Given the description of an element on the screen output the (x, y) to click on. 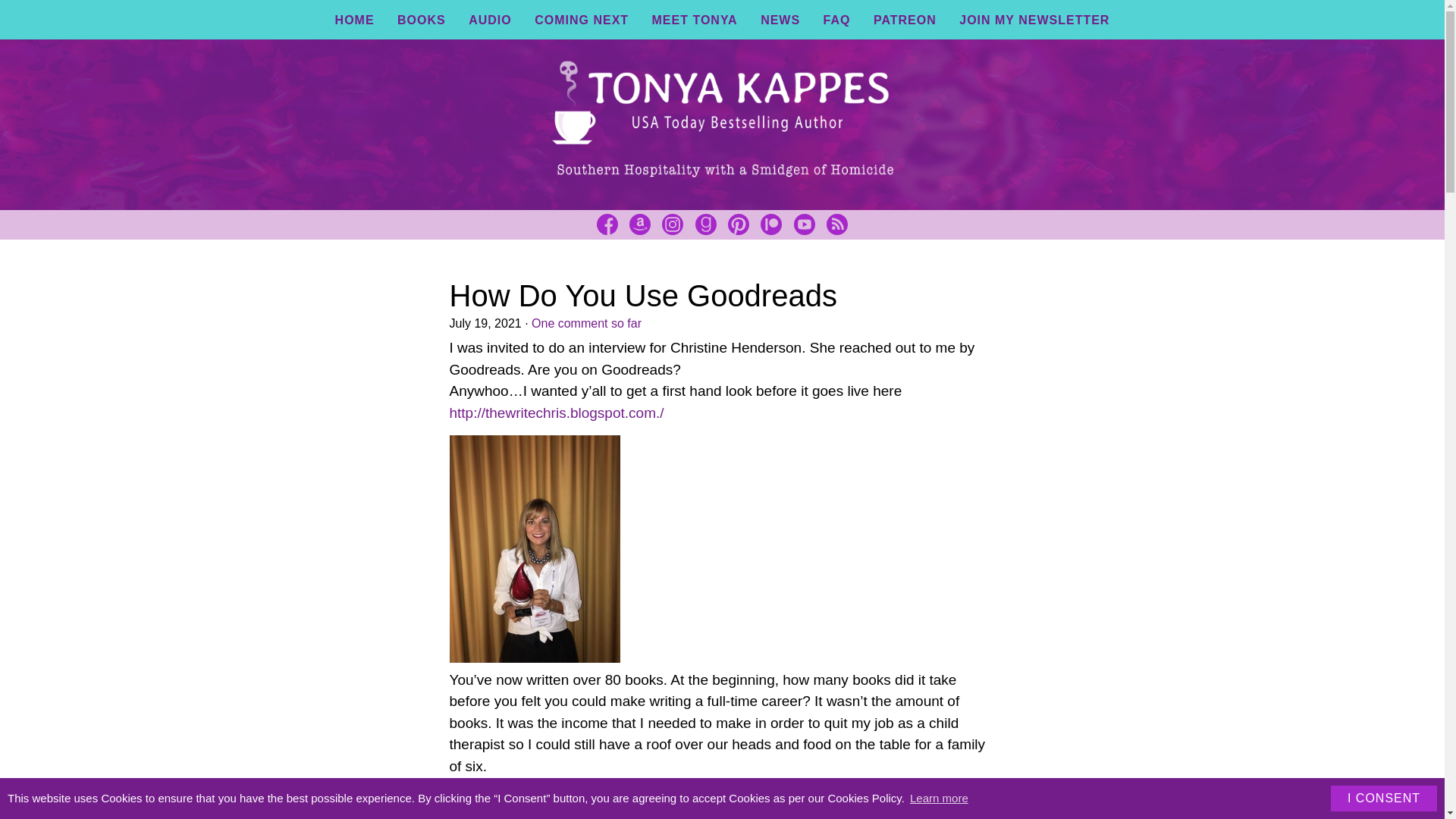
COMING NEXT (581, 19)
Learn more (939, 798)
AUDIO (490, 19)
MEET TONYA (695, 19)
PATREON (904, 19)
I CONSENT (1383, 798)
FAQ (837, 19)
BOOKS (421, 19)
JOIN MY NEWSLETTER (1034, 19)
NEWS (779, 19)
HOME (354, 19)
One comment so far (586, 323)
